Given the description of an element on the screen output the (x, y) to click on. 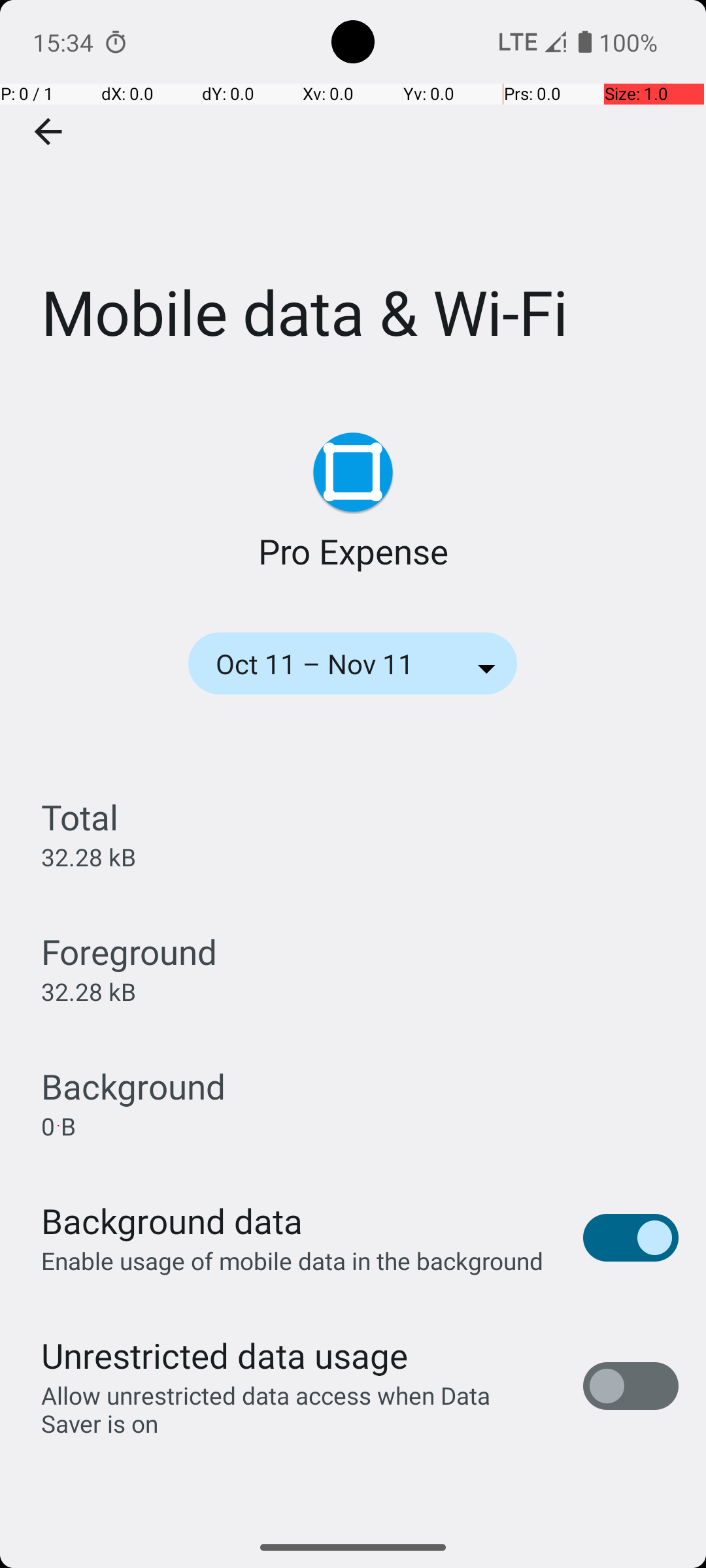
Total Element type: android.widget.TextView (79, 816)
32.28 kB Element type: android.widget.TextView (88, 856)
Foreground Element type: android.widget.TextView (129, 951)
Background Element type: android.widget.TextView (133, 1085)
Background data Element type: android.widget.TextView (171, 1220)
Enable usage of mobile data in the background Element type: android.widget.TextView (292, 1260)
Unrestricted data usage Element type: android.widget.TextView (224, 1355)
Allow unrestricted data access when Data Saver is on Element type: android.widget.TextView (298, 1408)
Oct 11 – Nov 11 Element type: android.widget.TextView (331, 663)
